Given the description of an element on the screen output the (x, y) to click on. 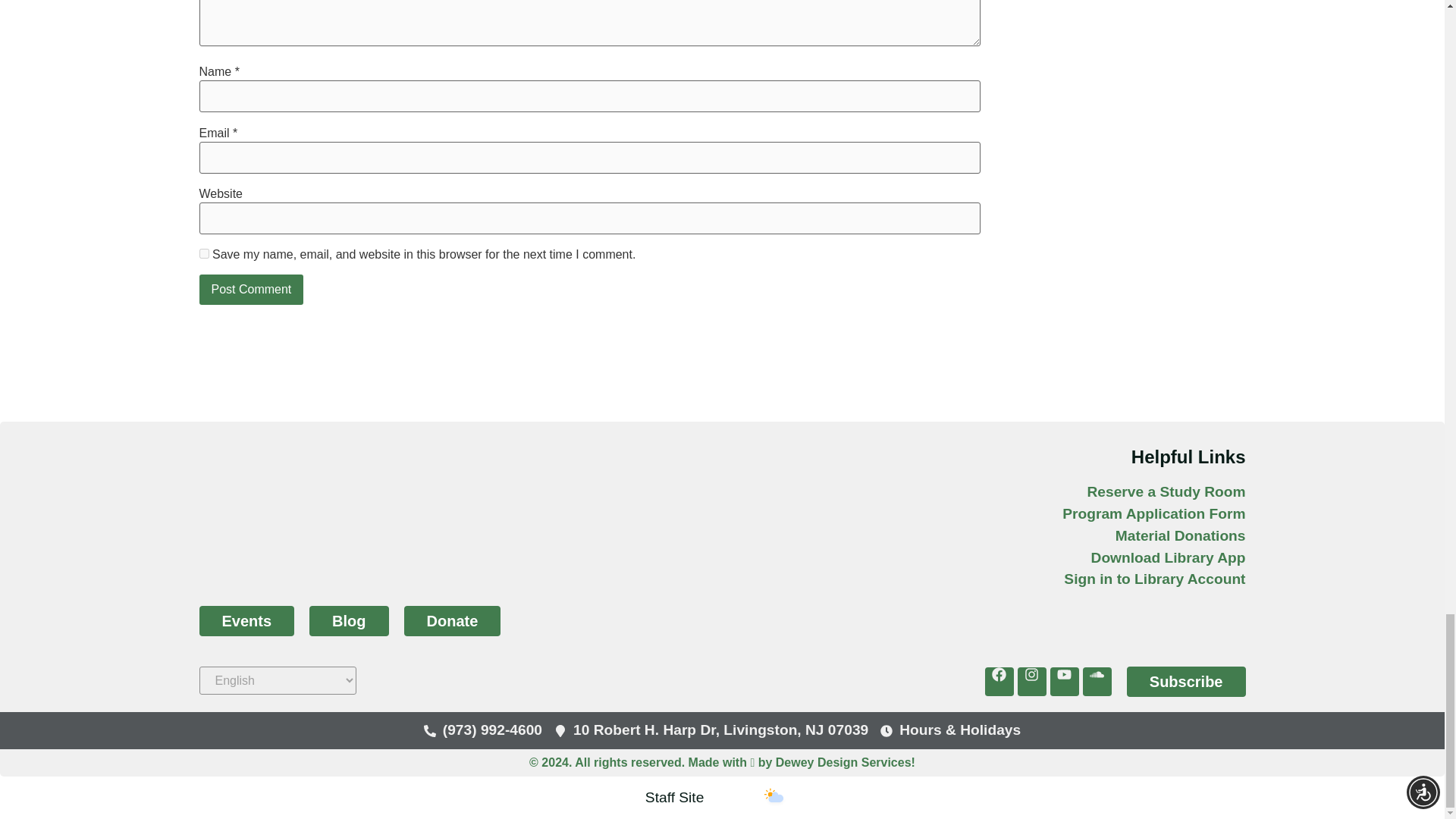
yes (203, 253)
Post Comment (250, 289)
